Given the description of an element on the screen output the (x, y) to click on. 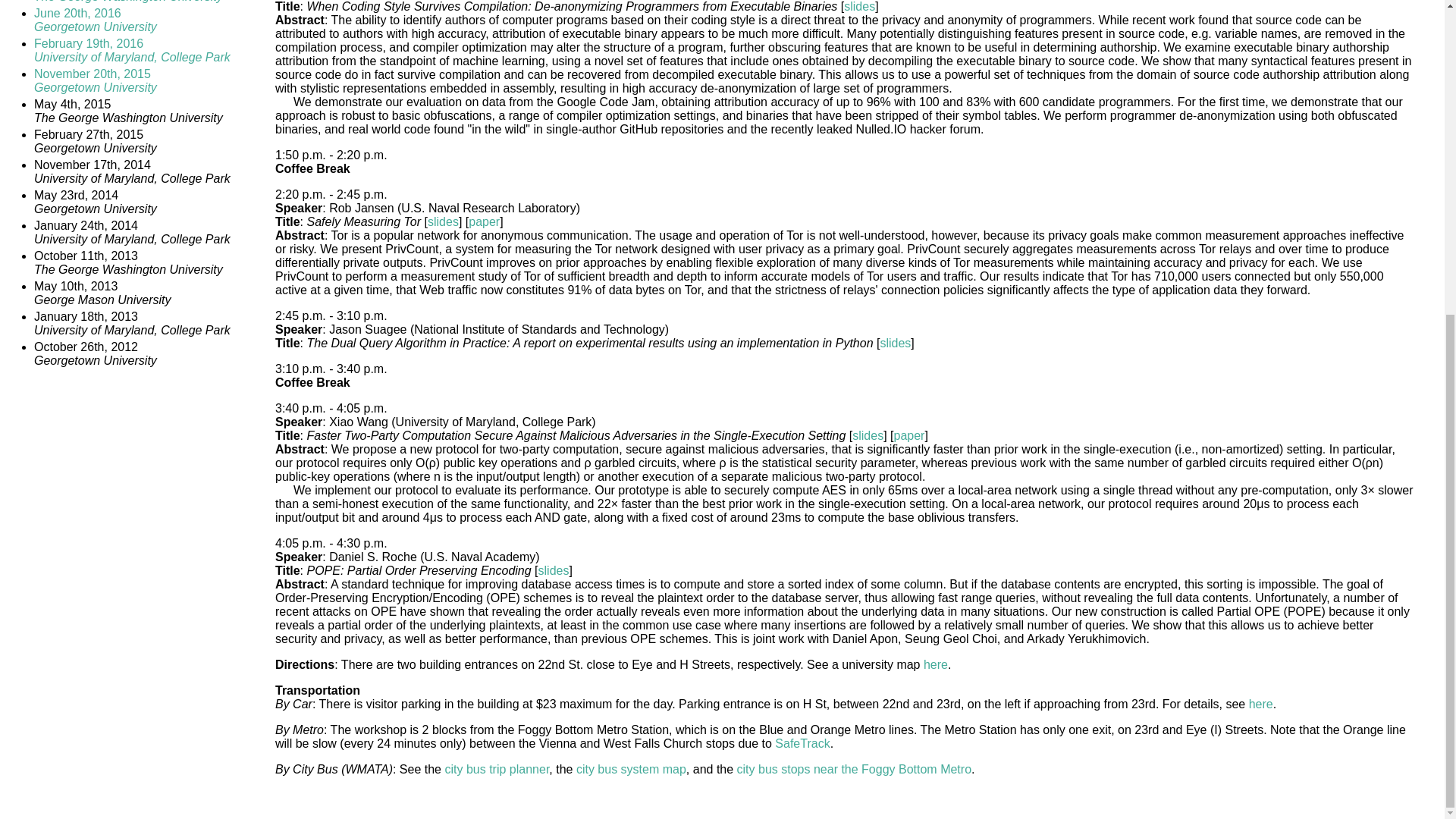
city bus stops near the Foggy Bottom Metro (131, 49)
here (127, 1)
slides (853, 768)
paper (935, 664)
slides (443, 221)
slides (95, 80)
slides (908, 435)
